Given the description of an element on the screen output the (x, y) to click on. 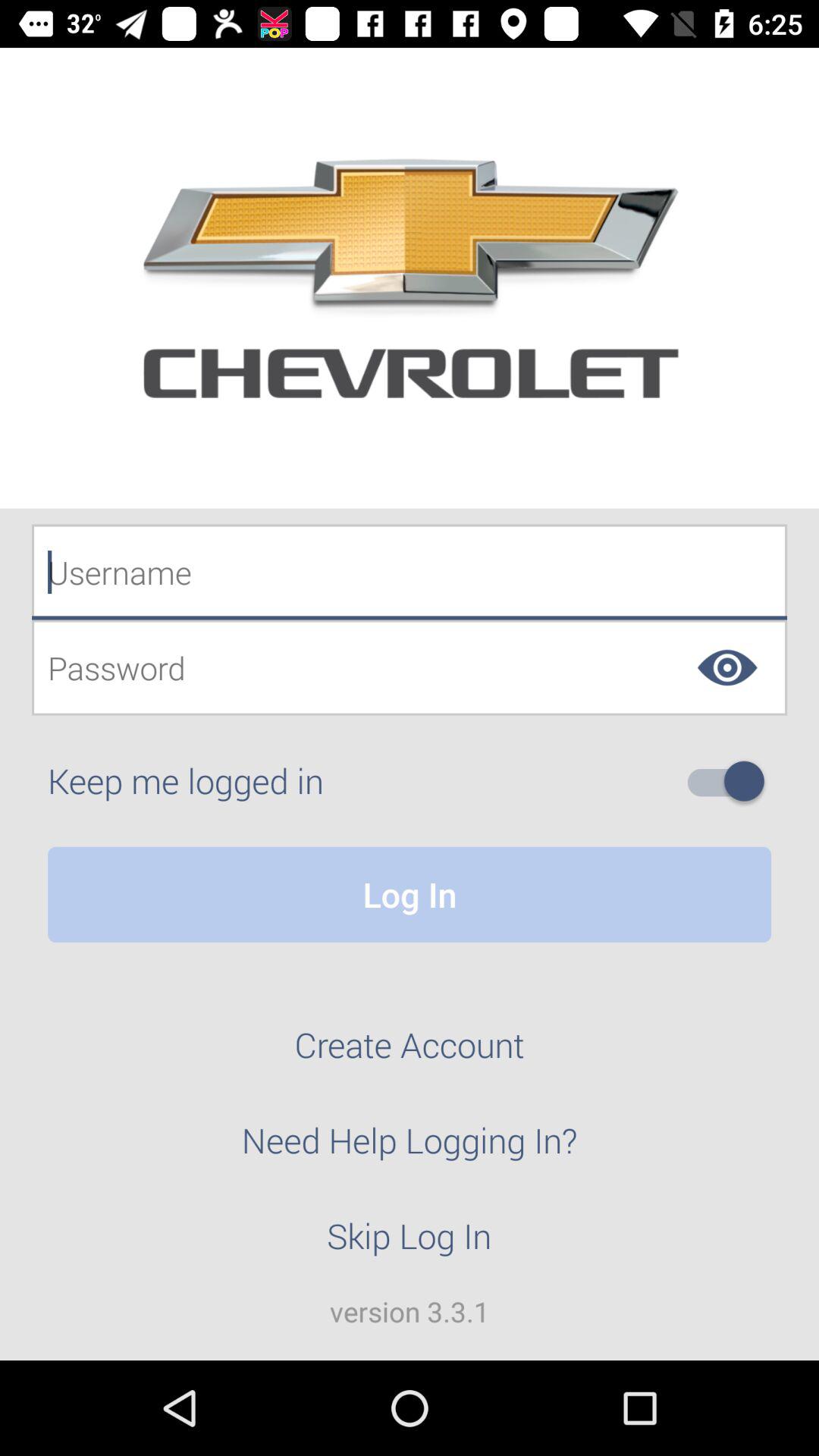
enter your password (409, 667)
